Given the description of an element on the screen output the (x, y) to click on. 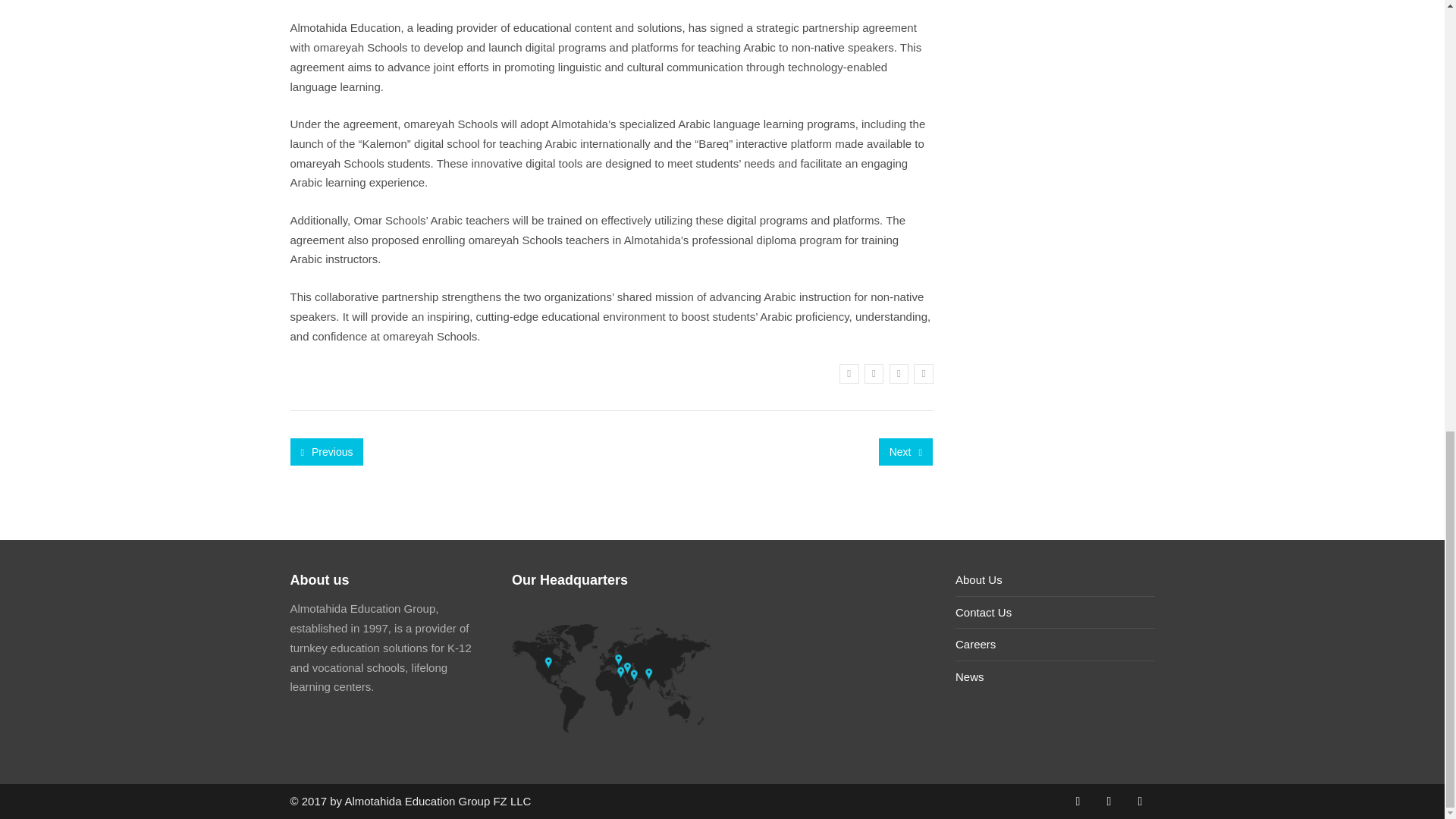
About Us (979, 579)
Previous (325, 452)
Contact Us (983, 612)
Next (906, 452)
Careers (975, 644)
News (969, 676)
